Given the description of an element on the screen output the (x, y) to click on. 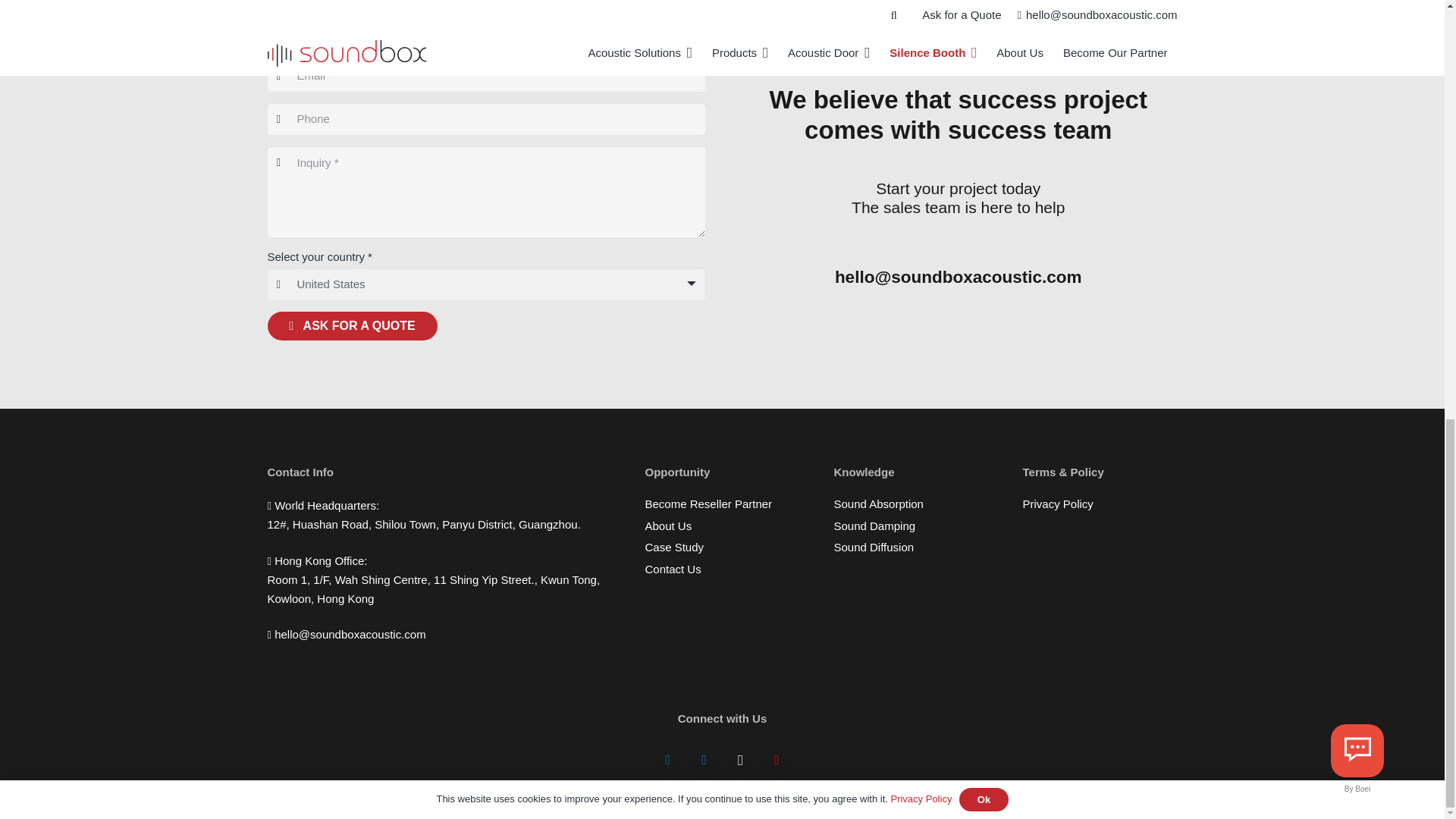
Facebook (703, 759)
Back to top (1413, 2)
YouTube (776, 759)
Instagram (740, 759)
LinkedIn (667, 759)
